Given the description of an element on the screen output the (x, y) to click on. 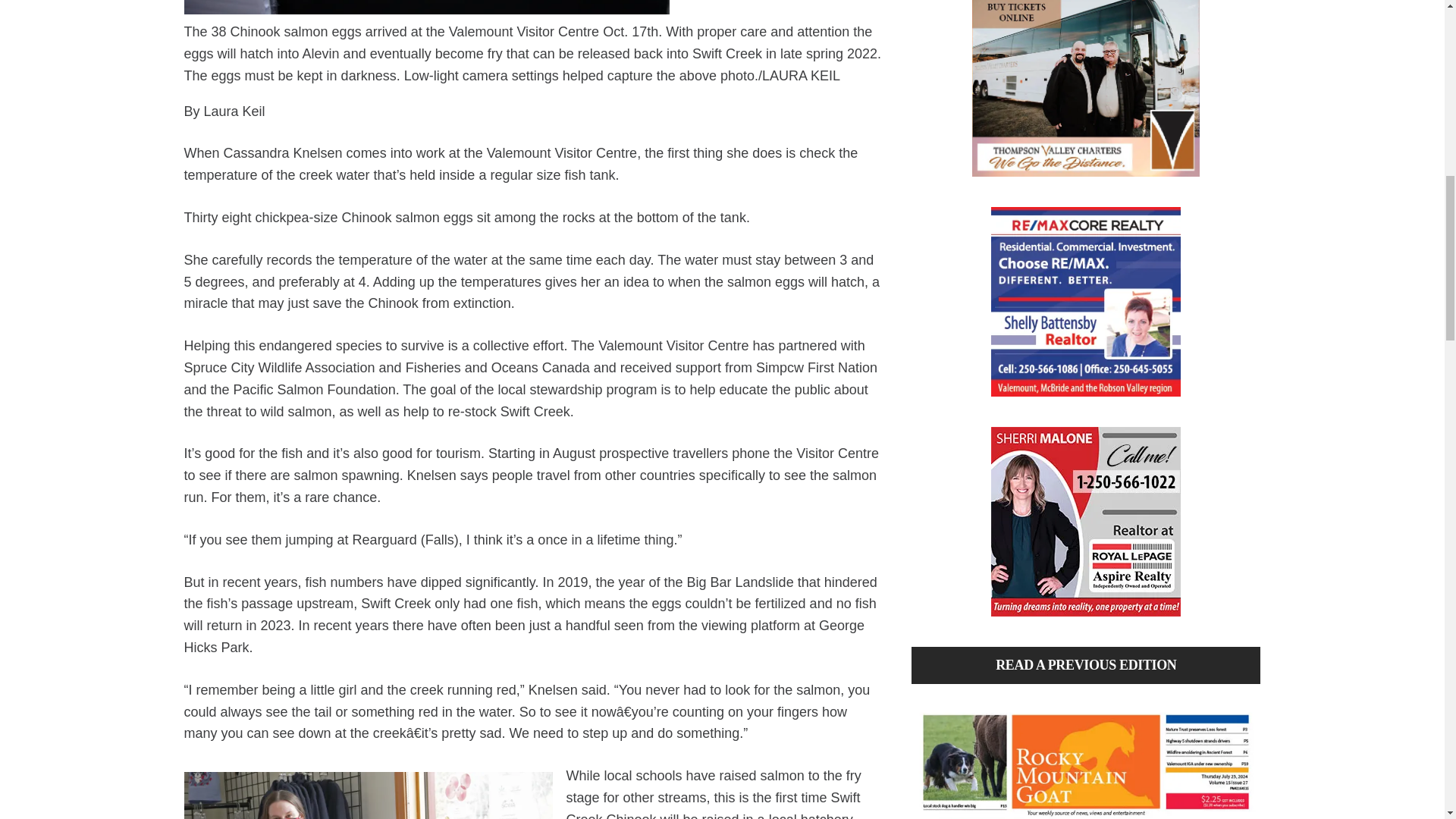
Read a previous edition (1085, 759)
